Given the description of an element on the screen output the (x, y) to click on. 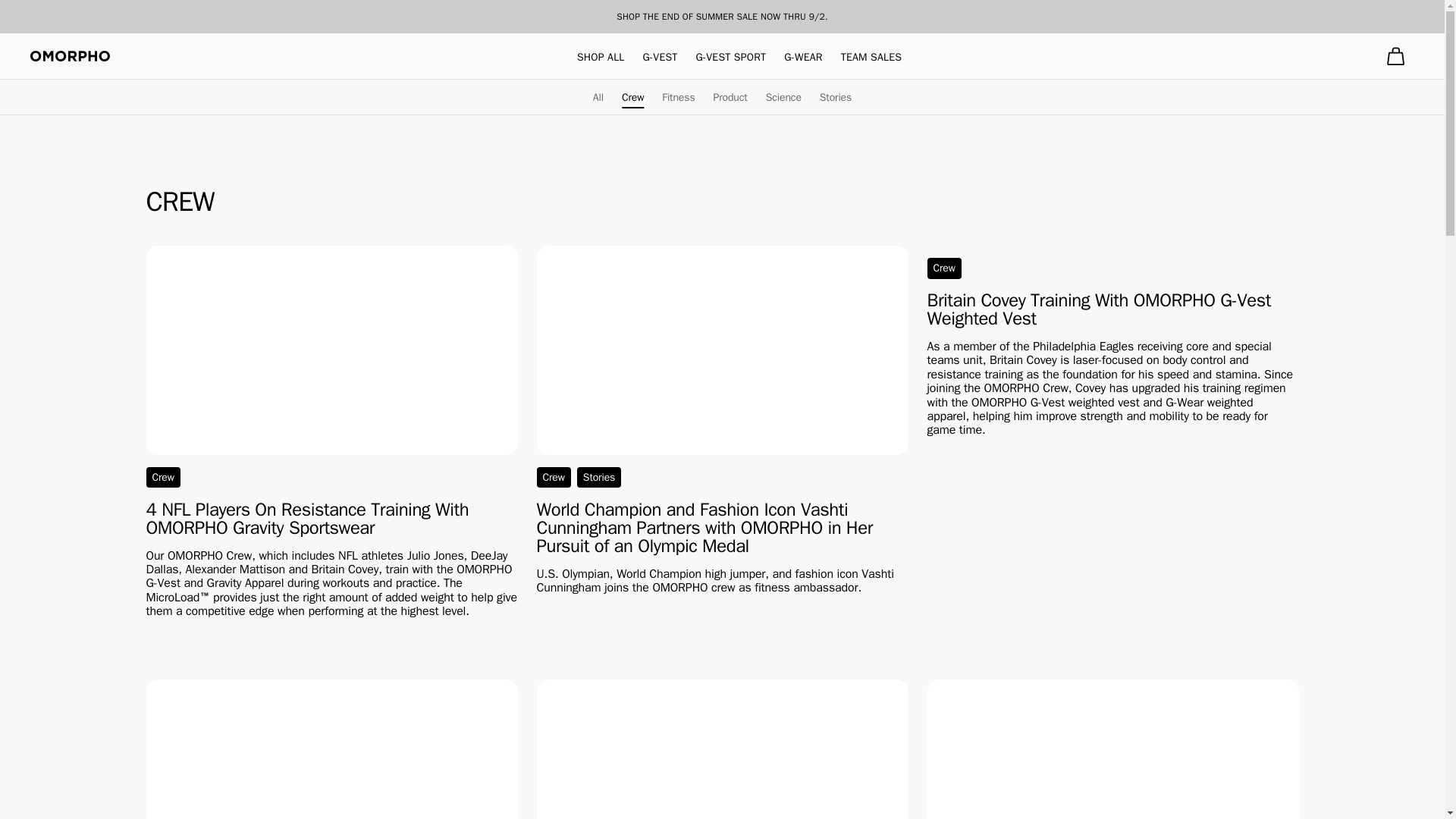
TEAM SALES (871, 57)
Crew (632, 97)
Stories (835, 97)
G-VEST SPORT (731, 57)
G-WEAR (803, 57)
SHOP ALL (600, 57)
Science (783, 97)
Product (730, 97)
